Given the description of an element on the screen output the (x, y) to click on. 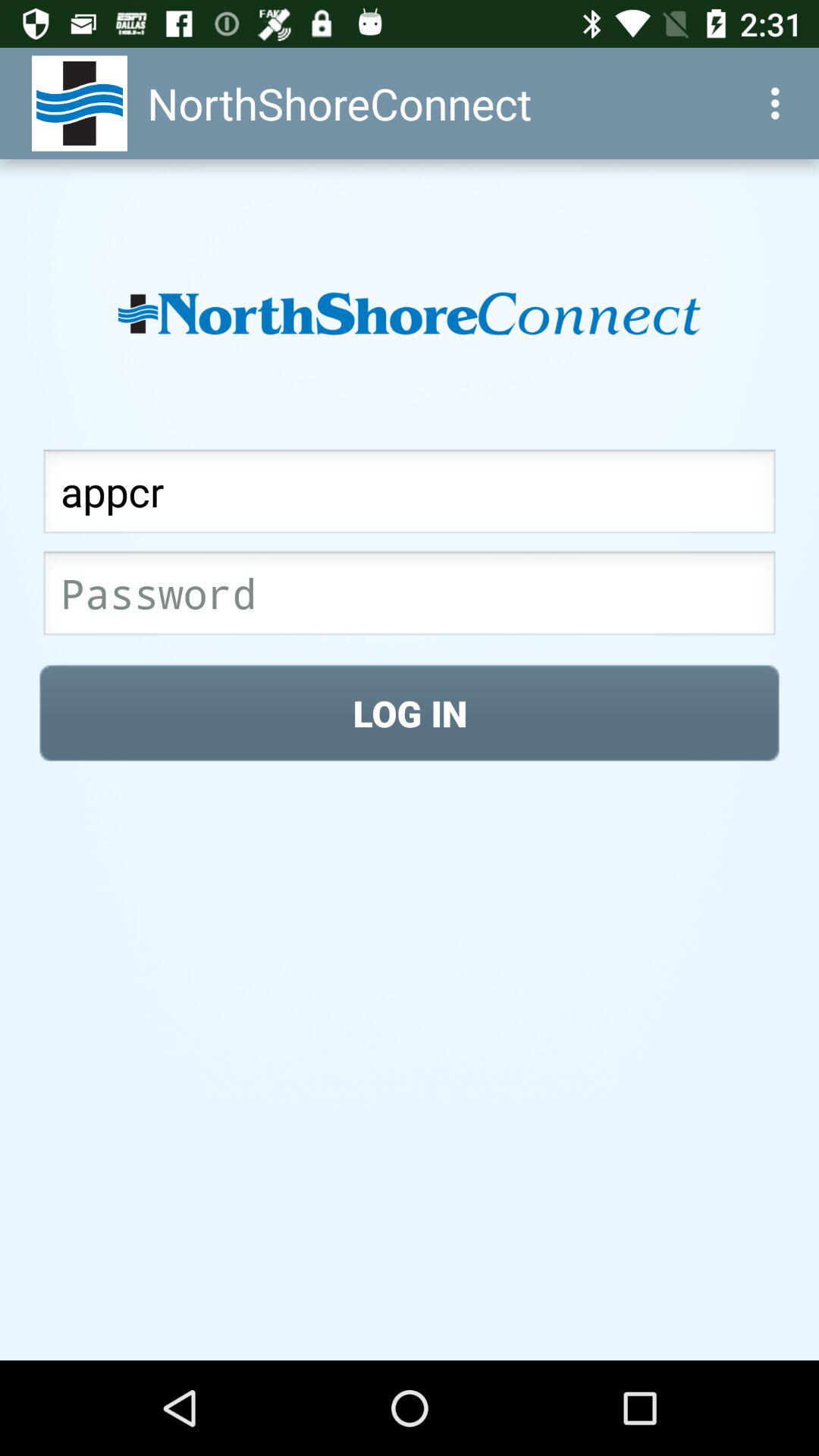
password (409, 597)
